Given the description of an element on the screen output the (x, y) to click on. 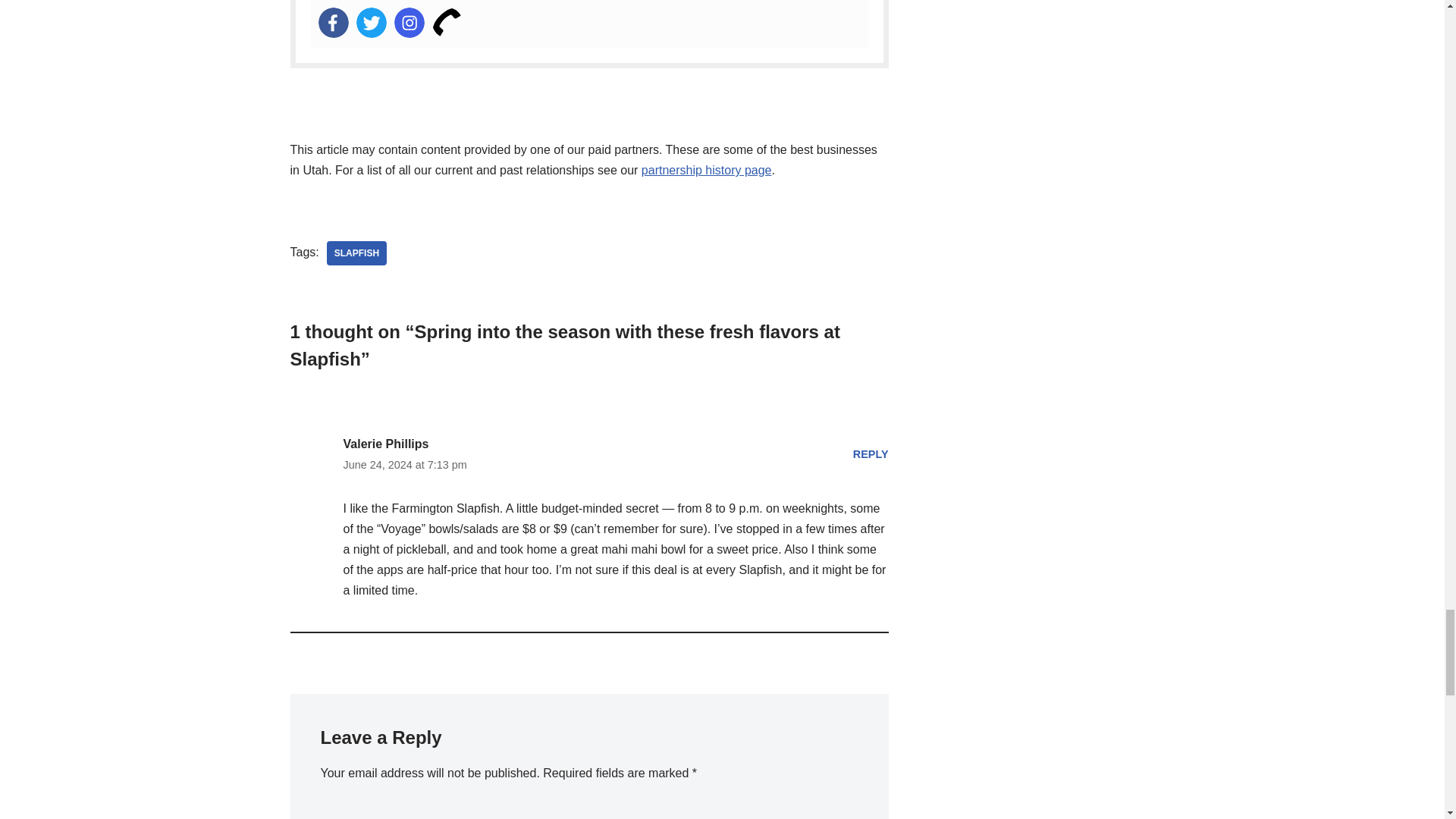
Phone (447, 22)
Instagram (409, 22)
Twitter (371, 22)
Slapfish (356, 252)
Facebook (333, 22)
